Given the description of an element on the screen output the (x, y) to click on. 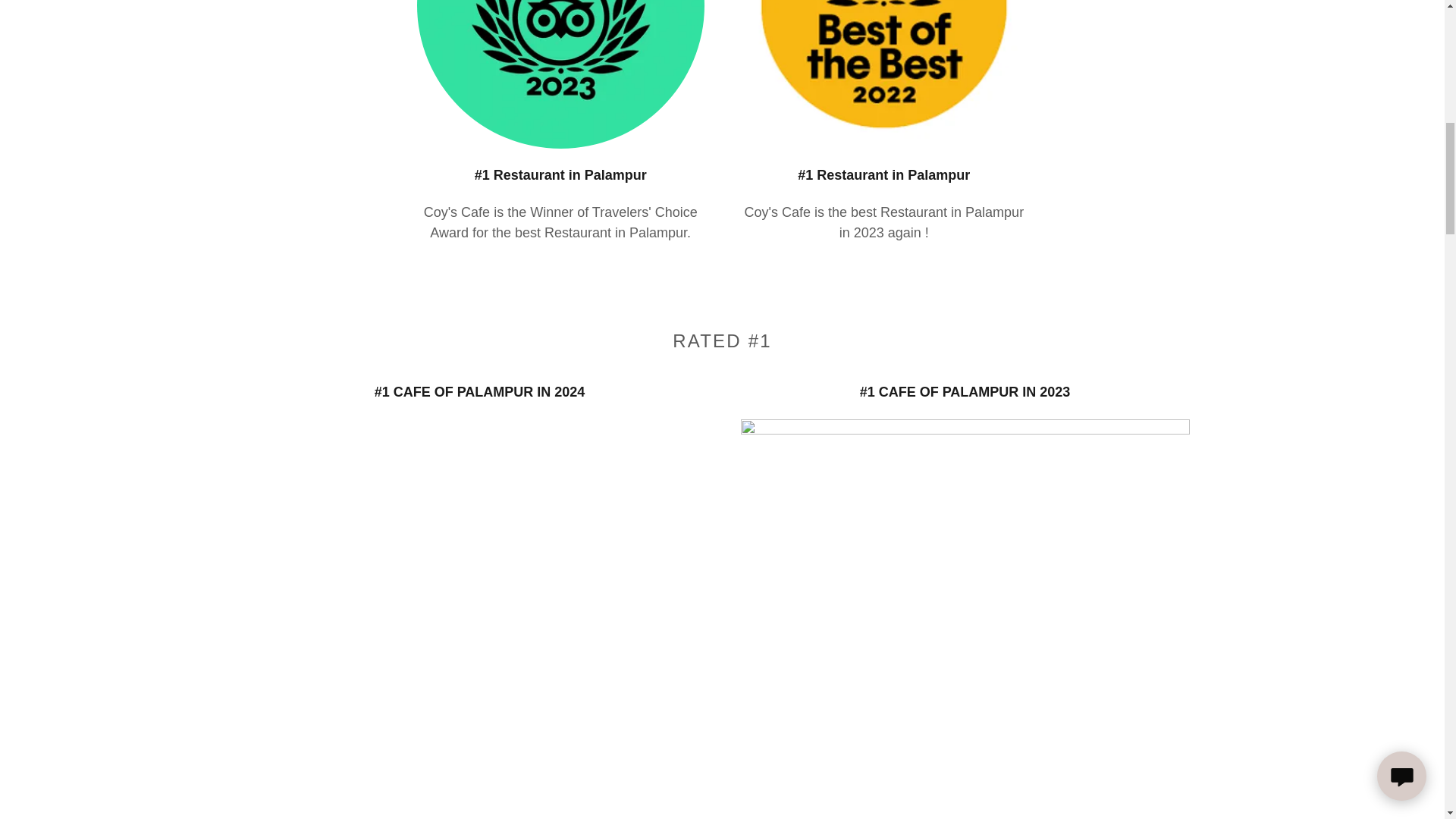
ACCEPT (1345, 324)
DECLINE (1203, 324)
